Given the description of an element on the screen output the (x, y) to click on. 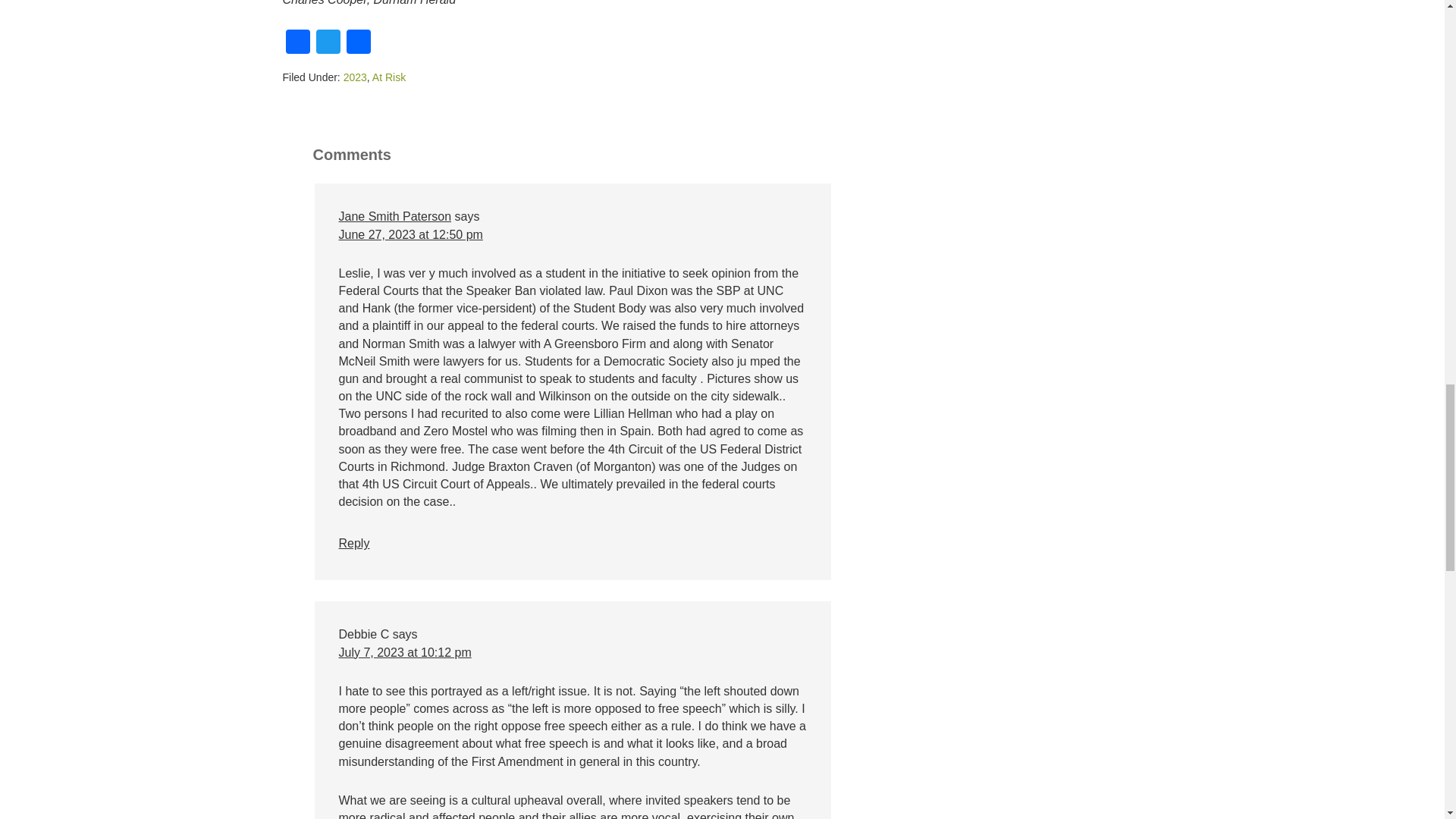
June 27, 2023 at 12:50 pm (409, 234)
Twitter (327, 43)
At Risk (389, 77)
Twitter (327, 43)
Jane Smith Paterson (394, 215)
2023 (354, 77)
Share (357, 43)
Facebook (297, 43)
Facebook (297, 43)
